Given the description of an element on the screen output the (x, y) to click on. 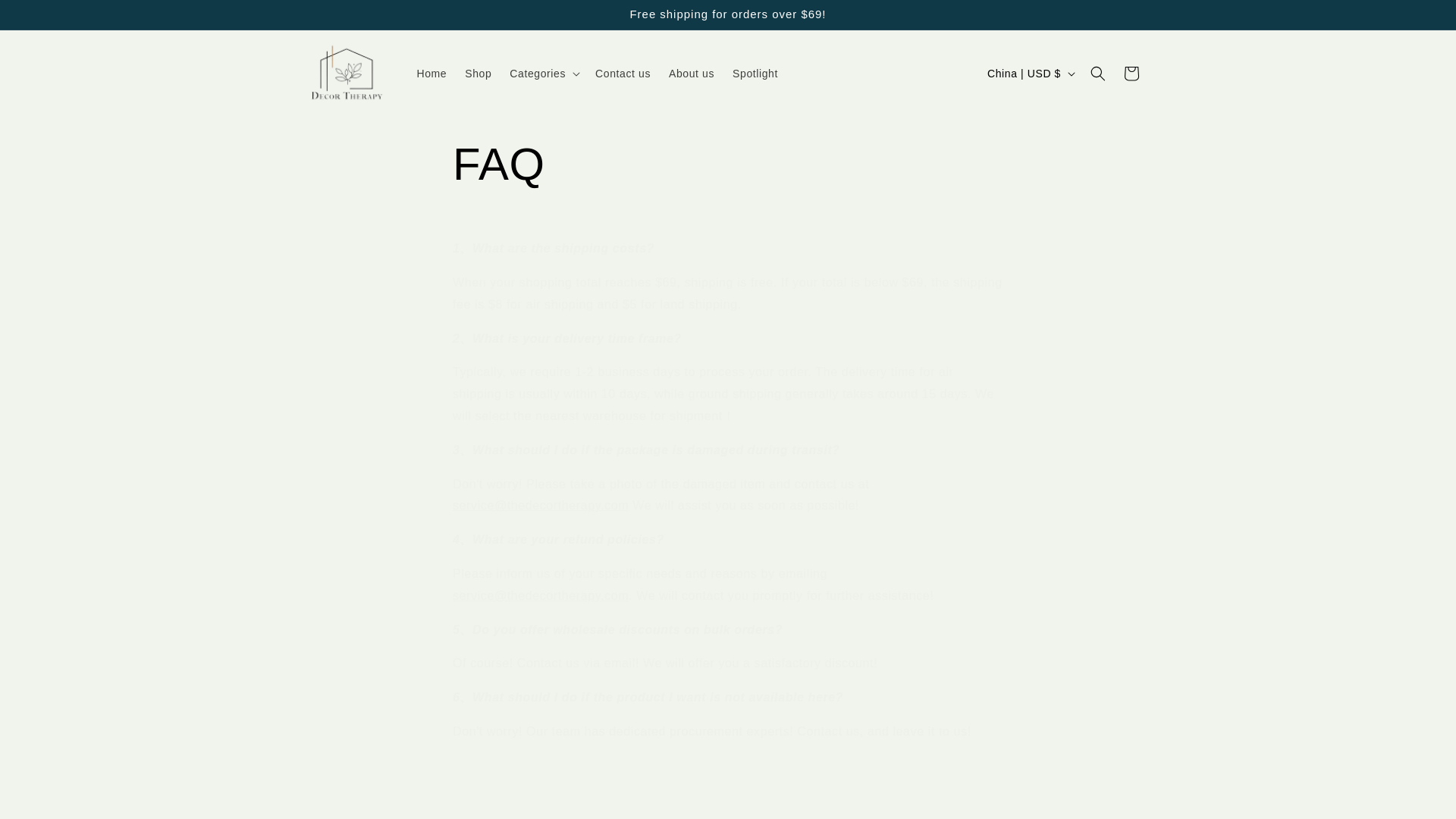
About us (691, 73)
Contact us (622, 73)
Shop (477, 73)
Home (432, 73)
FAQ (727, 163)
Skip to content (45, 17)
Spotlight (755, 73)
